Given the description of an element on the screen output the (x, y) to click on. 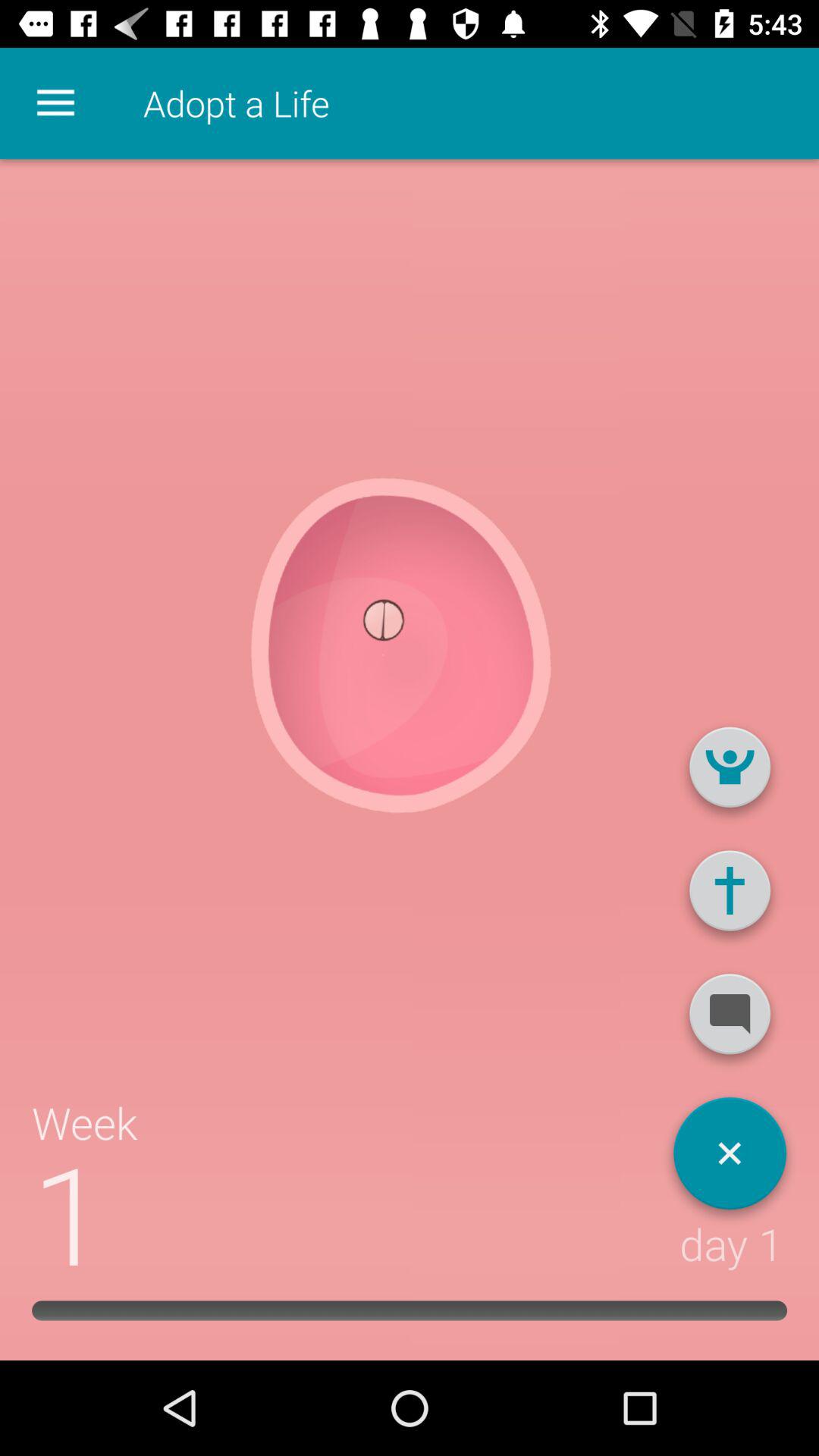
chat button (729, 1019)
